Given the description of an element on the screen output the (x, y) to click on. 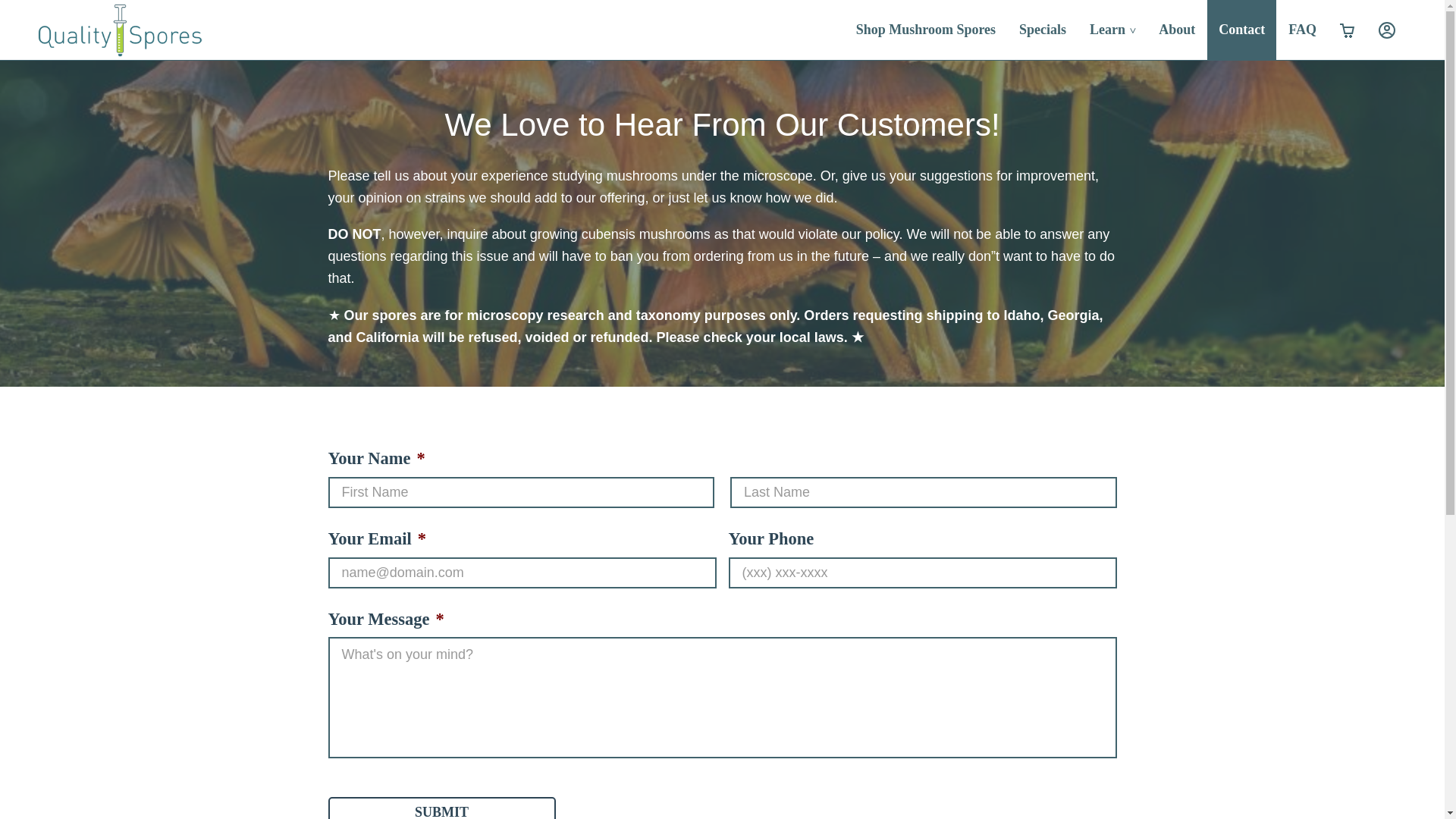
Shop Mushroom Spores (925, 29)
Specials (1042, 29)
Submit (440, 807)
Submit (440, 807)
Contact (1241, 29)
About (1177, 29)
